Given the description of an element on the screen output the (x, y) to click on. 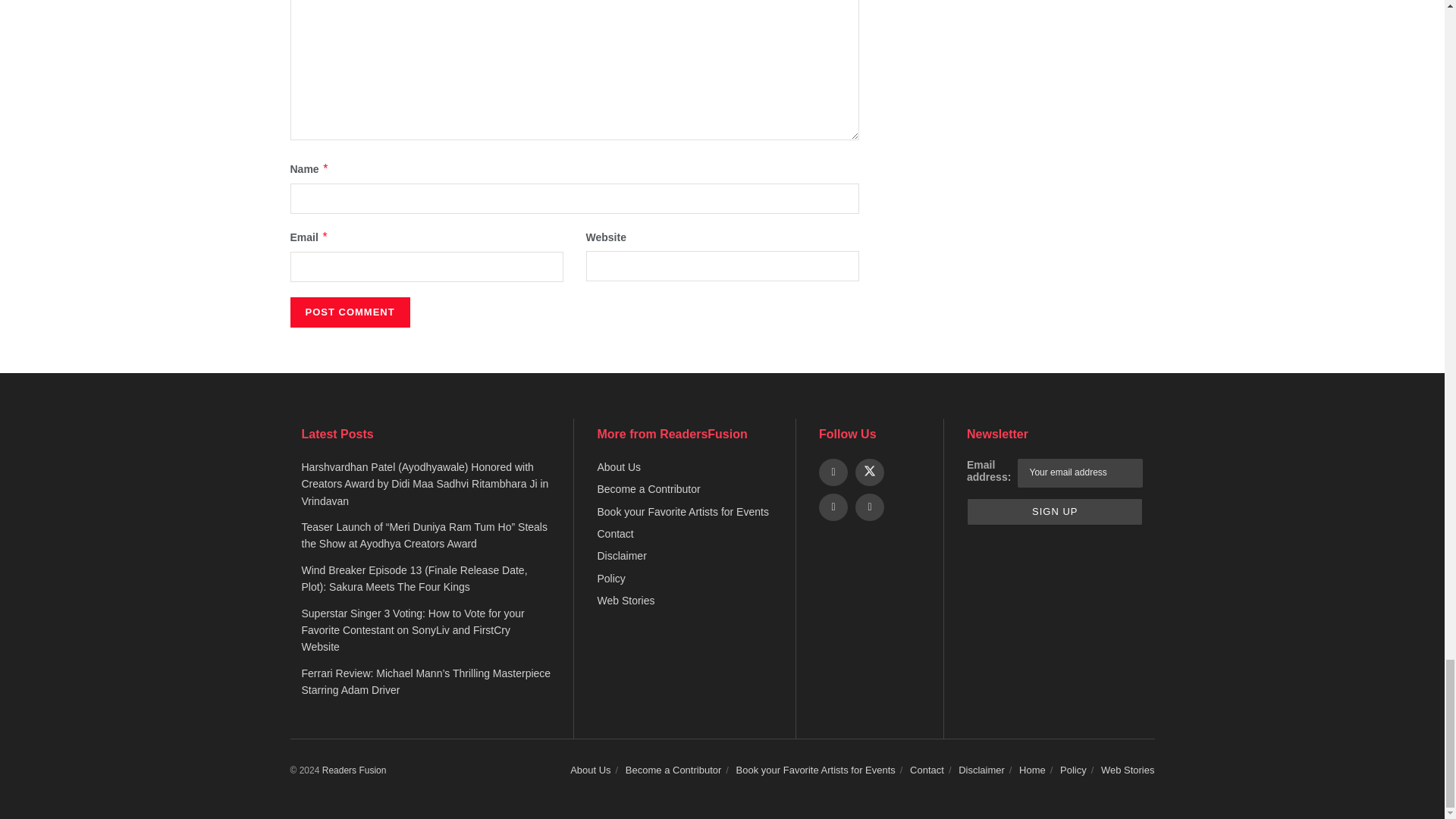
Sign up (1054, 511)
ReadersFusion (354, 769)
Post Comment (349, 312)
